Given the description of an element on the screen output the (x, y) to click on. 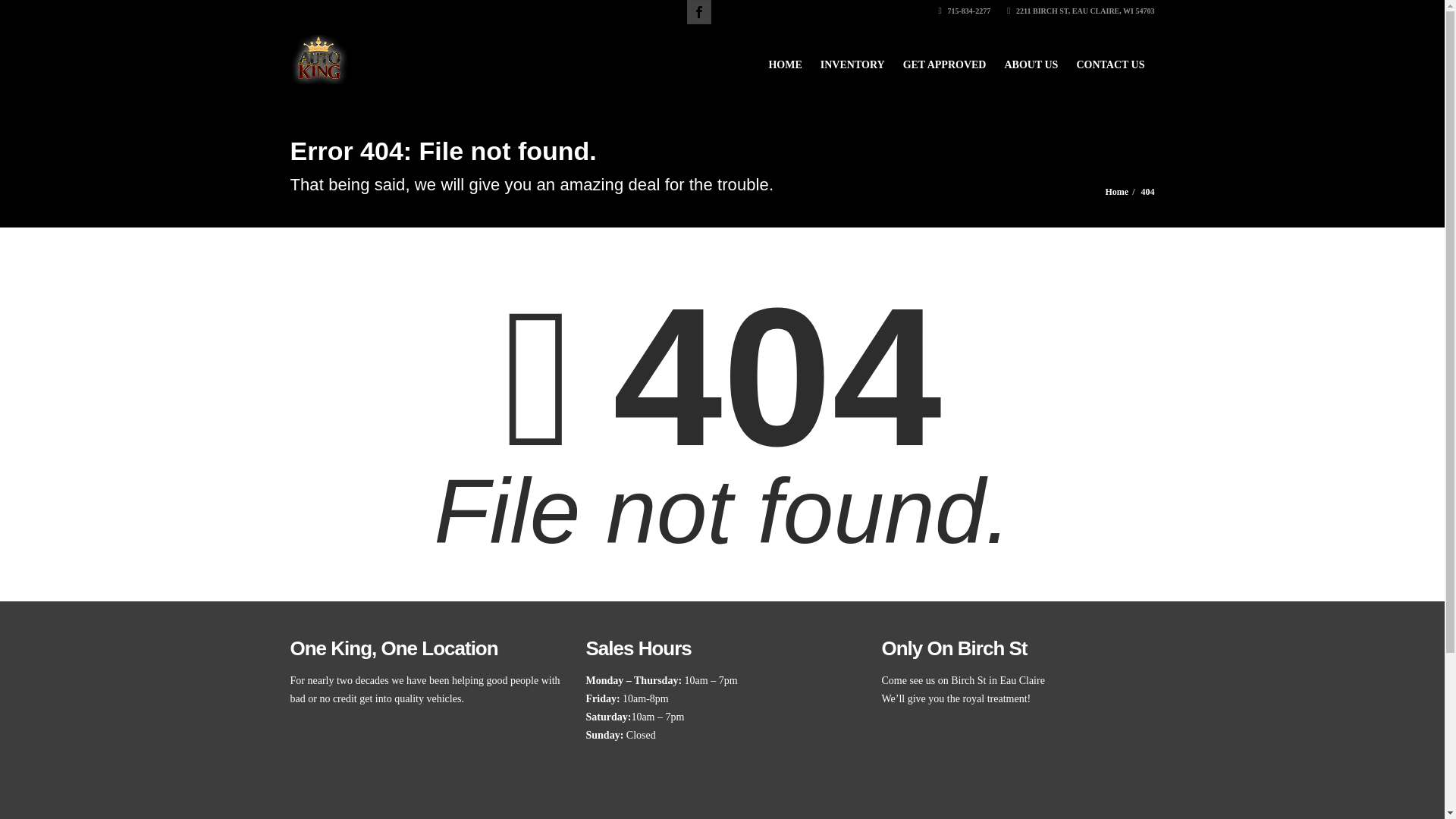
INVENTORY (851, 57)
715-834-2277 (965, 10)
ABOUT US (1030, 57)
GET APPROVED (944, 57)
404 (1147, 191)
2211 BIRCH ST, EAU CLAIRE, WI 54703 (1080, 10)
Home (1116, 191)
CONTACT US (1110, 57)
